Given the description of an element on the screen output the (x, y) to click on. 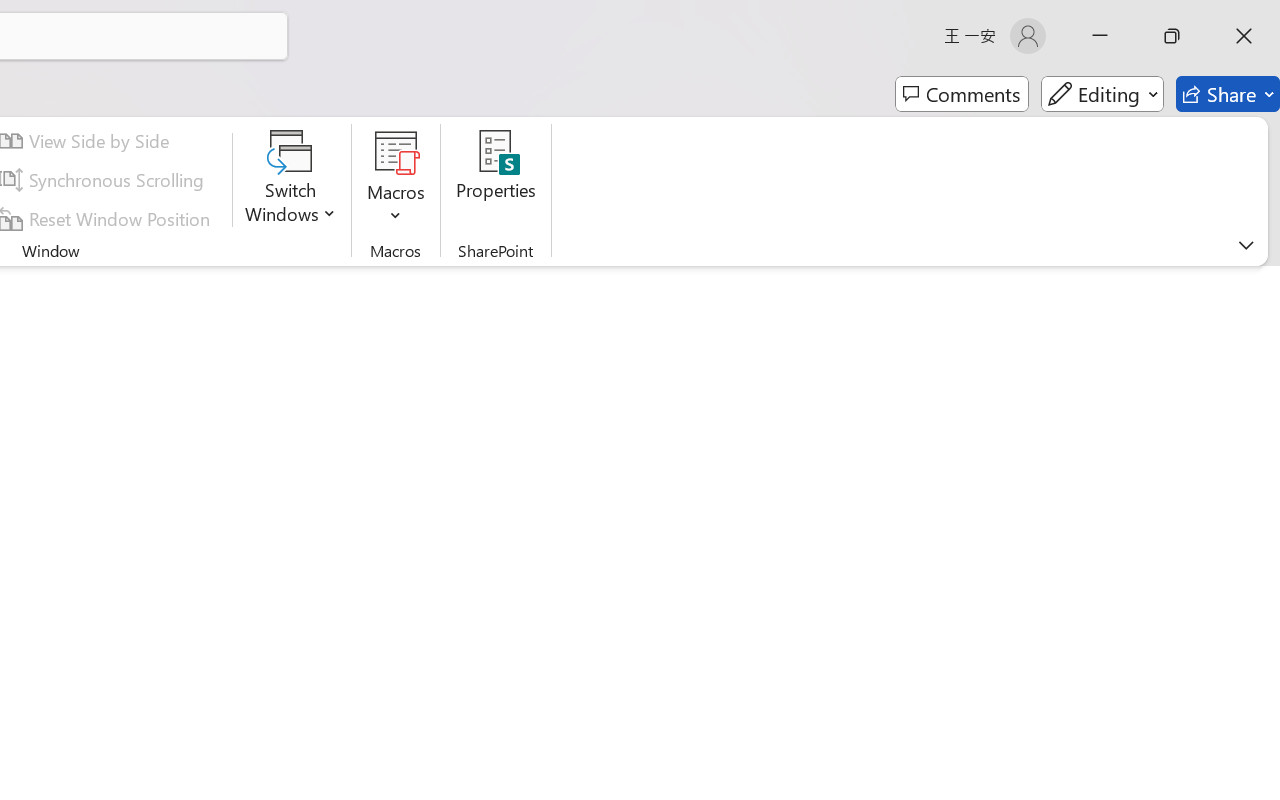
Restore Down (1172, 36)
Minimize (1099, 36)
Properties (496, 179)
Close (1244, 36)
Editing (1101, 94)
View Macros (395, 151)
Comments (961, 94)
Switch Windows (290, 179)
More Options (395, 208)
Macros (395, 179)
Share (1228, 94)
Ribbon Display Options (1246, 245)
